Given the description of an element on the screen output the (x, y) to click on. 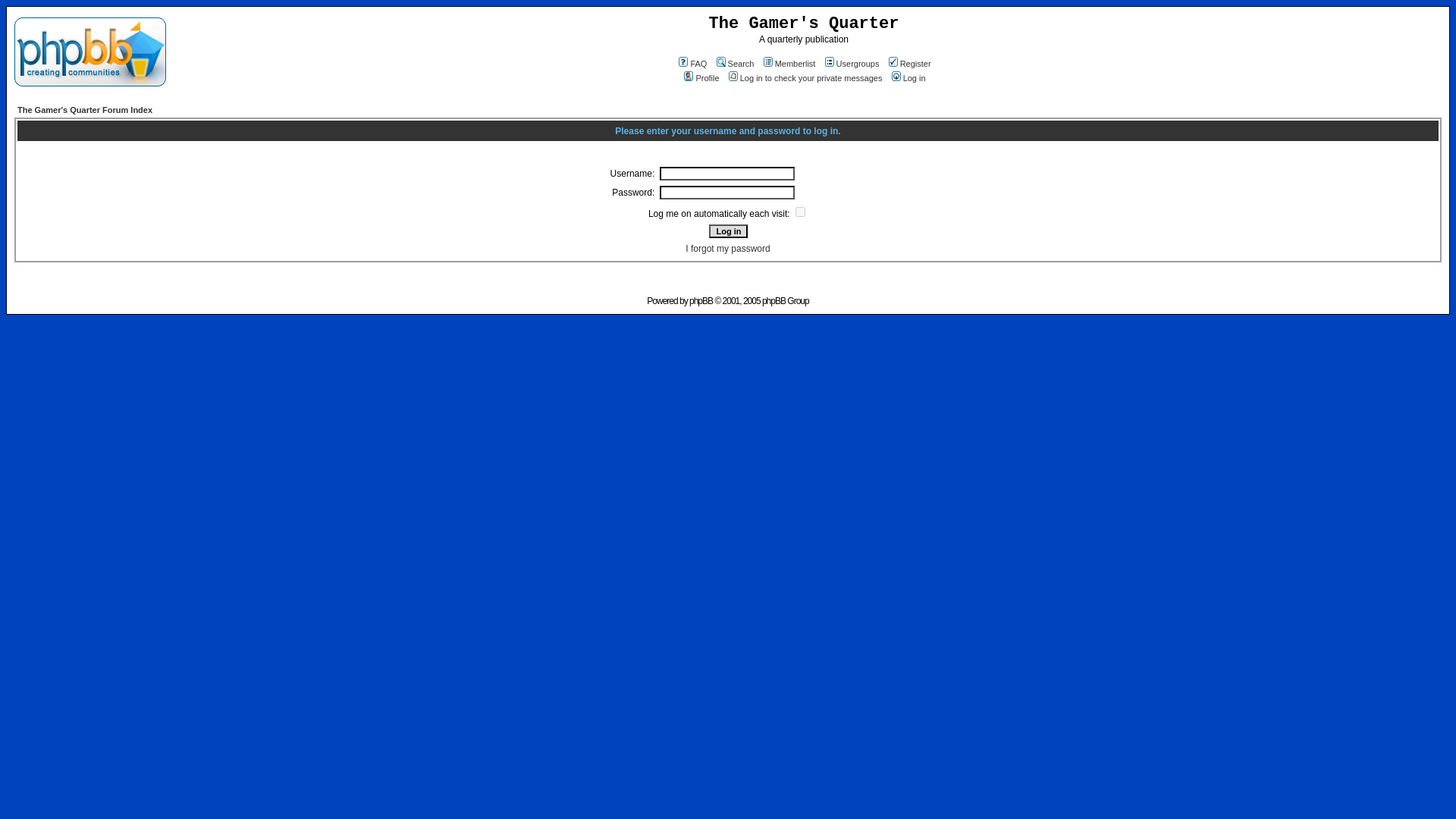
Log in to check your private messages (804, 77)
Profile (700, 77)
The Gamer's Quarter Forum Index (84, 109)
phpBB (700, 300)
Log in (726, 231)
Memberlist (788, 62)
Search (734, 62)
Register (908, 62)
Log in (726, 231)
FAQ (691, 62)
Log in (907, 77)
Usergroups (850, 62)
on (799, 212)
I forgot my password (727, 248)
